Given the description of an element on the screen output the (x, y) to click on. 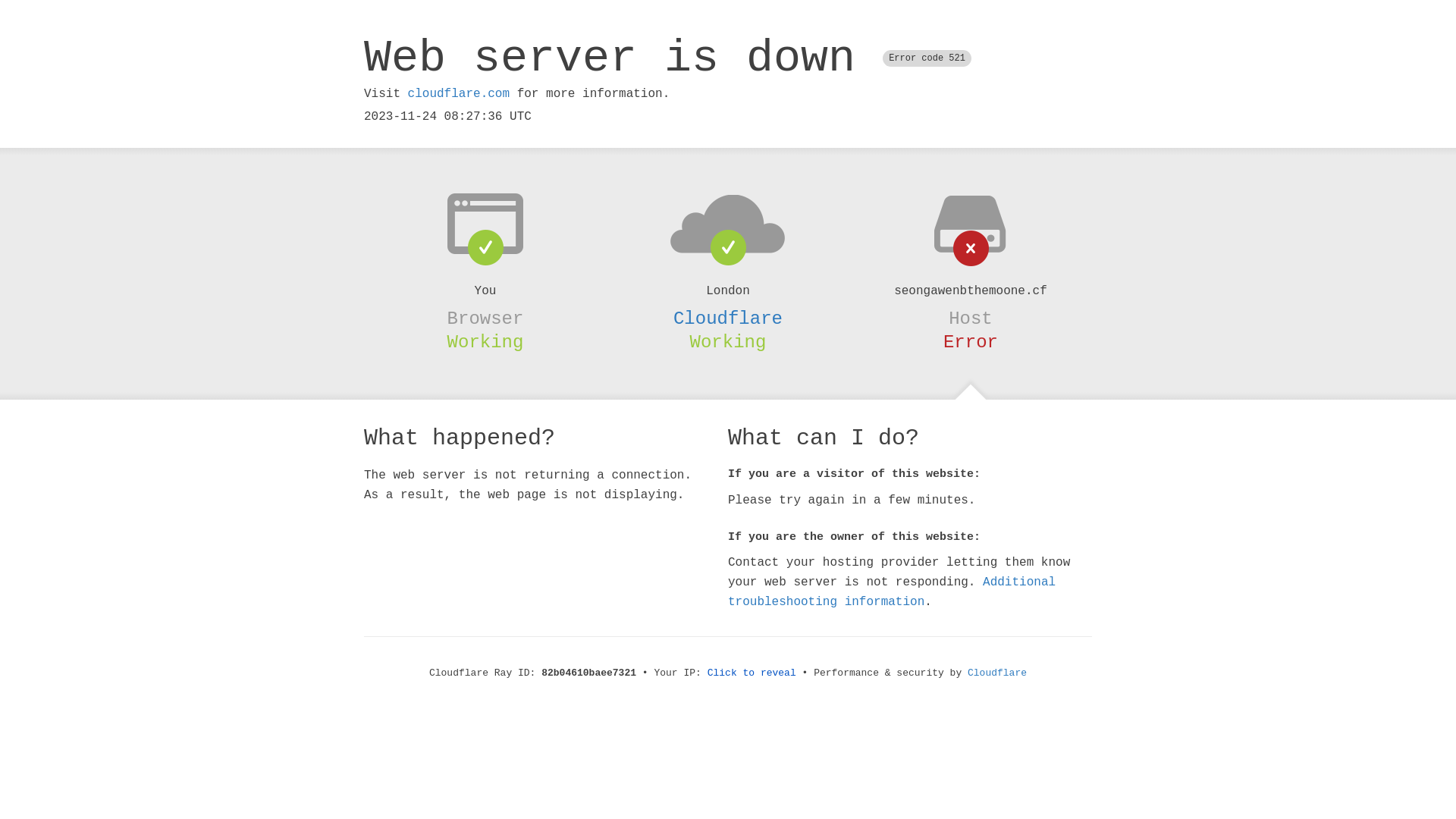
Cloudflare Element type: text (996, 672)
Additional troubleshooting information Element type: text (891, 591)
Click to reveal Element type: text (751, 672)
Cloudflare Element type: text (727, 318)
cloudflare.com Element type: text (458, 93)
